Given the description of an element on the screen output the (x, y) to click on. 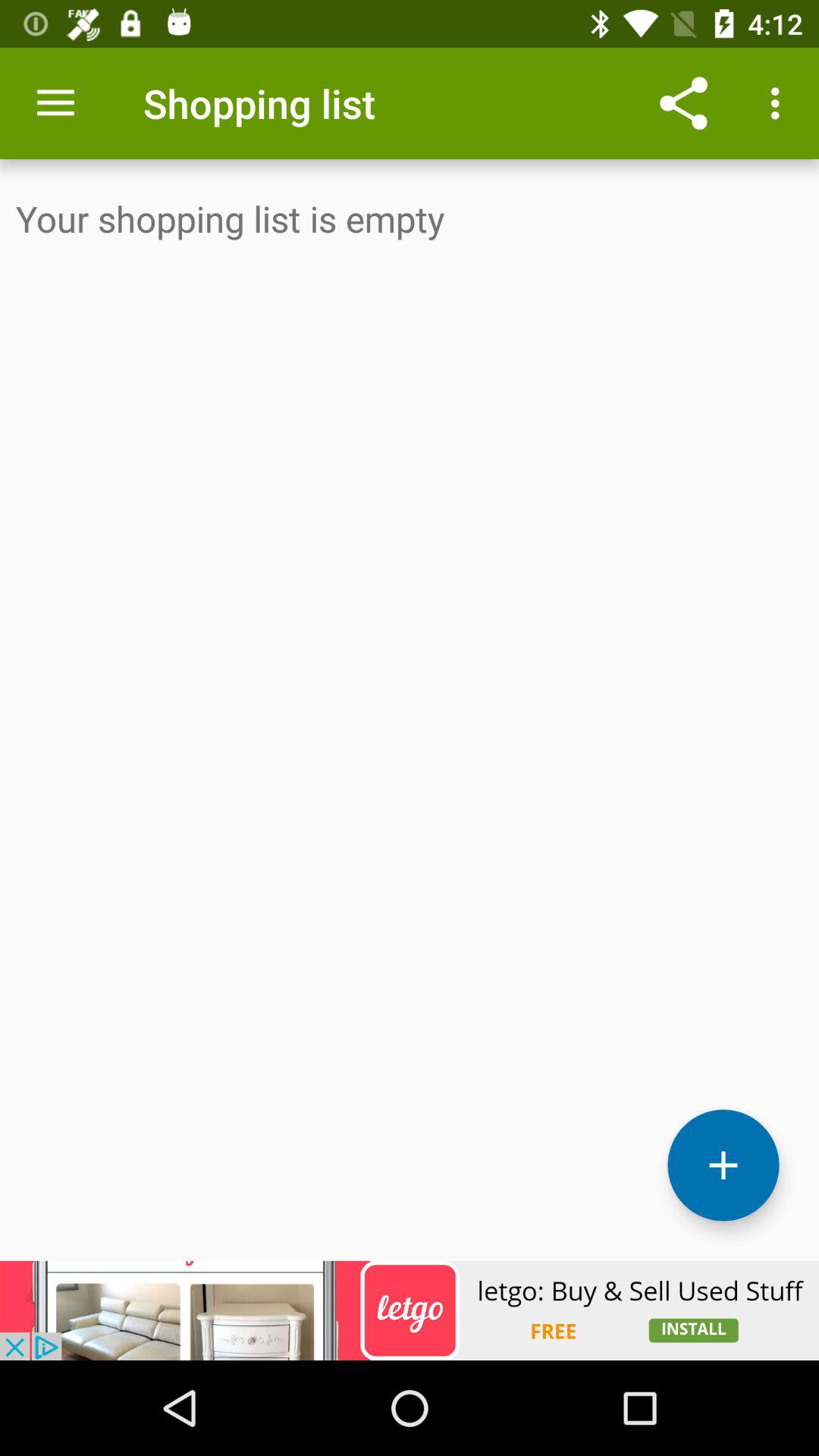
add new item (723, 1165)
